Given the description of an element on the screen output the (x, y) to click on. 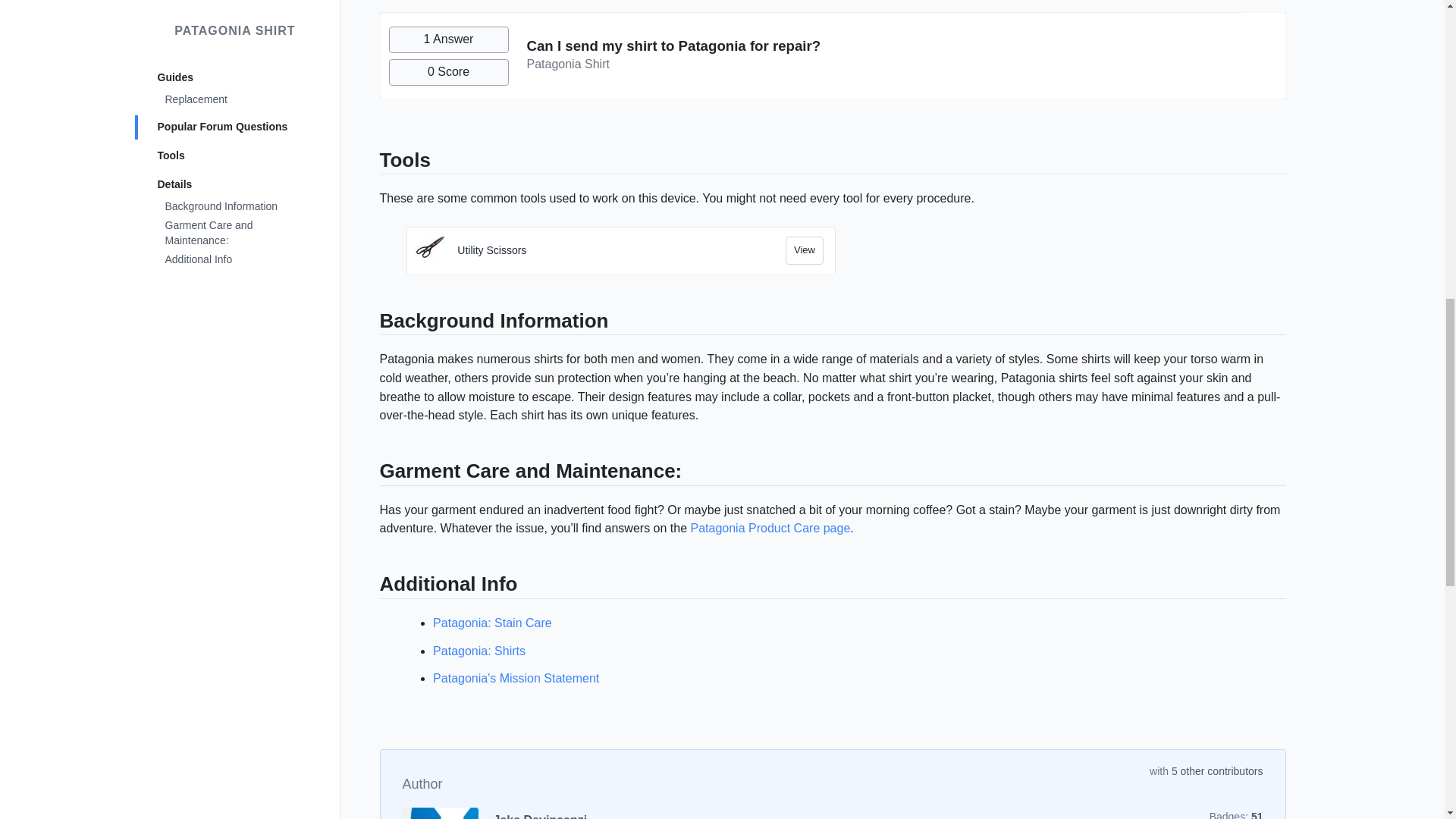
Link to this section (371, 474)
Link to this section (371, 323)
Link to this section (371, 586)
